Given the description of an element on the screen output the (x, y) to click on. 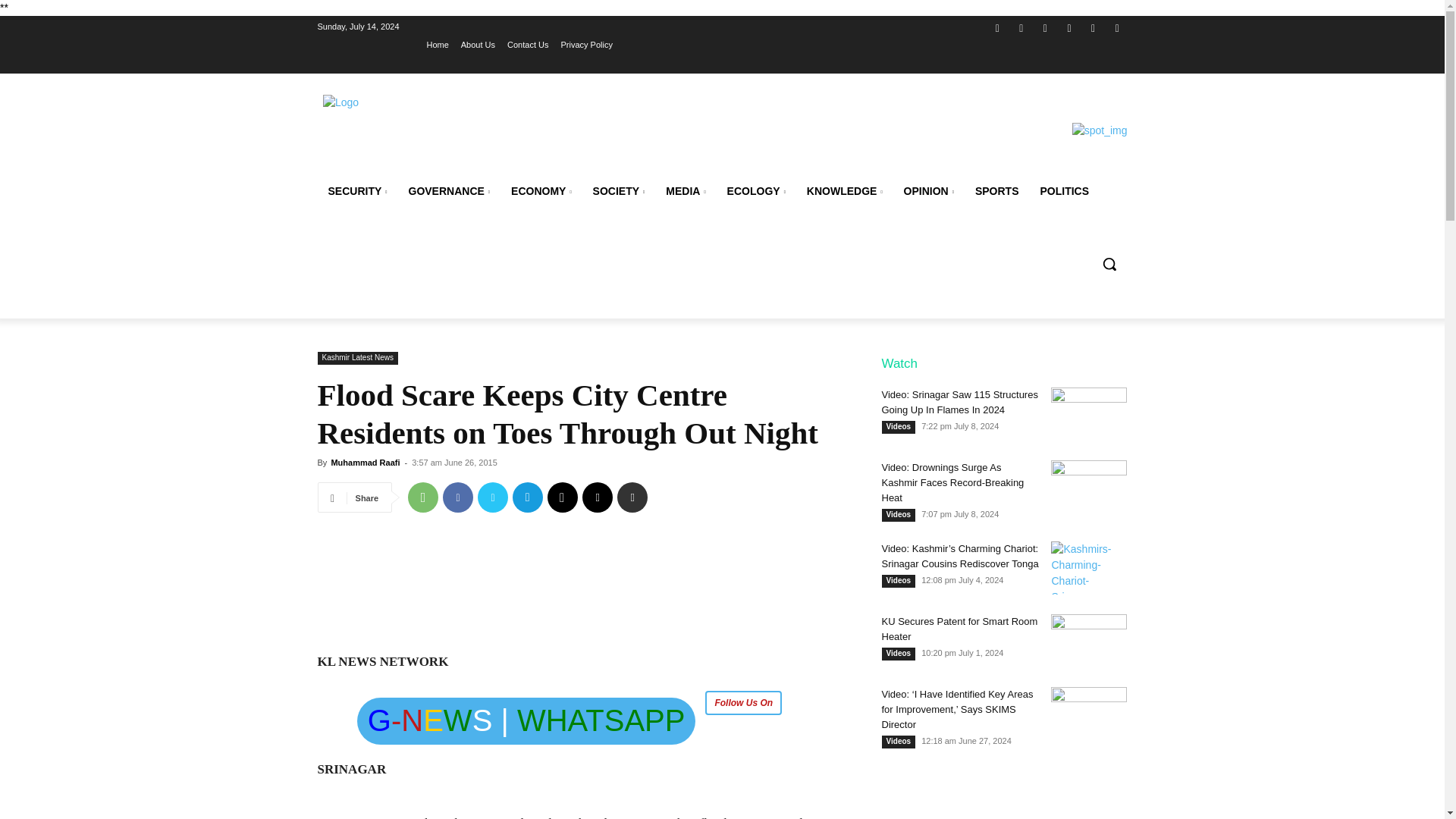
Instagram (1021, 28)
Website (1069, 28)
Facebook (997, 28)
WhatsApp (1093, 28)
WhatsApp (422, 497)
Youtube (1116, 28)
Twitter (1045, 28)
